Given the description of an element on the screen output the (x, y) to click on. 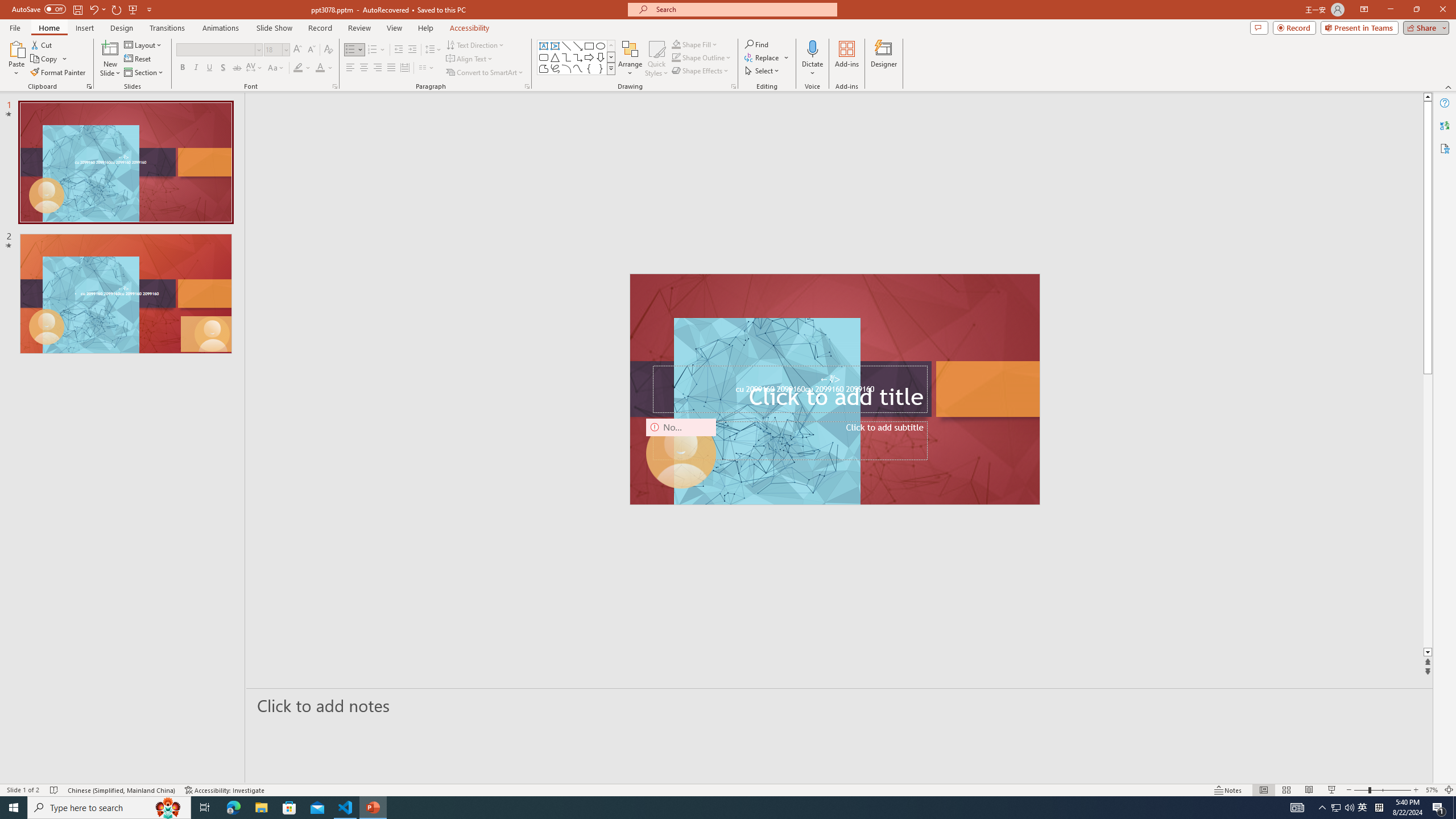
Connector: Elbow Arrow (577, 57)
Shape Effects (700, 69)
Character Spacing (254, 67)
Columns (426, 67)
Left Brace (589, 68)
Slide Notes (839, 705)
Section (144, 72)
